Given the description of an element on the screen output the (x, y) to click on. 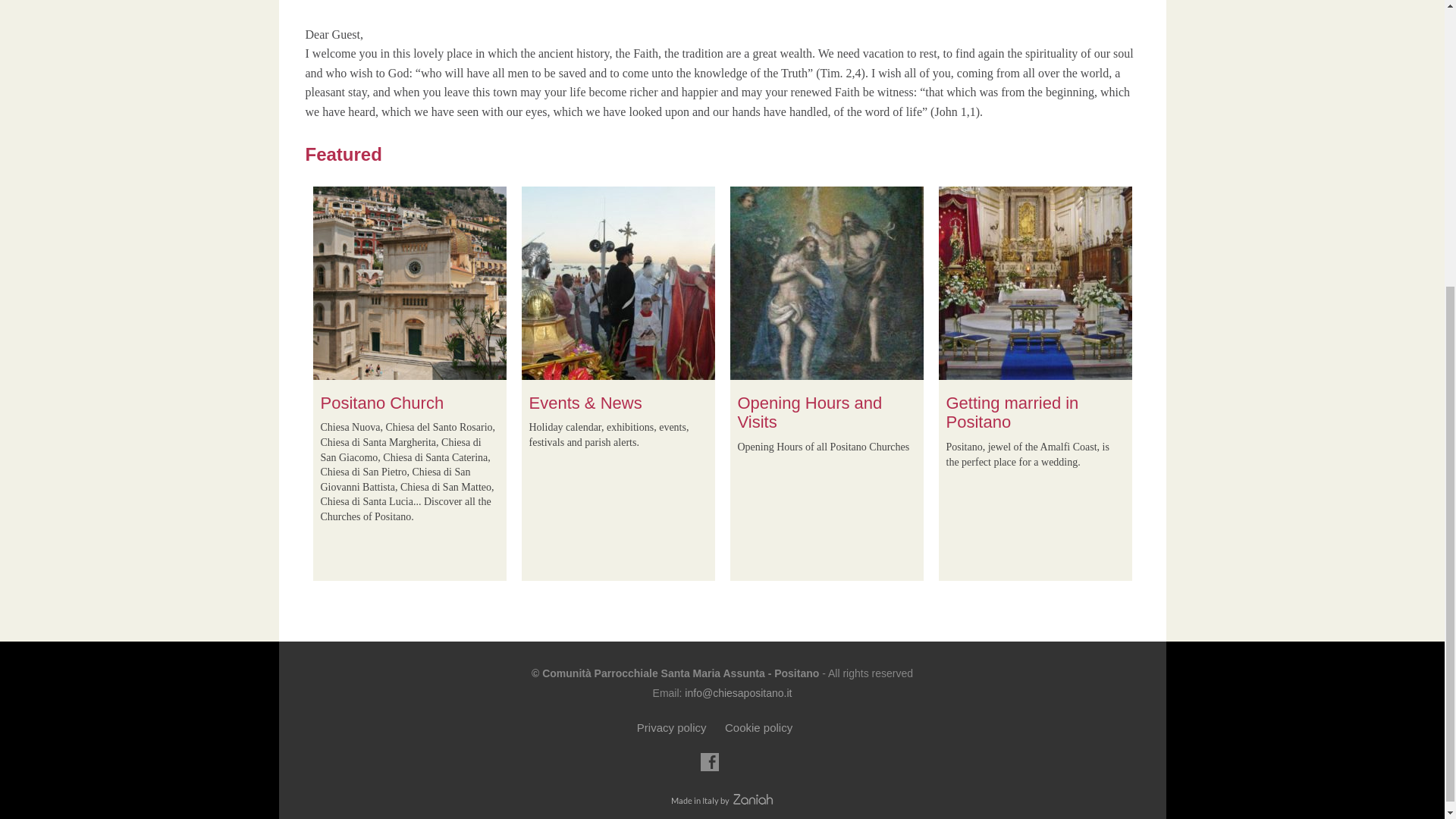
Sito web realizzato da Zaniah (722, 800)
Positano Church (382, 402)
Chiesa Positano - Facebook (709, 761)
